Given the description of an element on the screen output the (x, y) to click on. 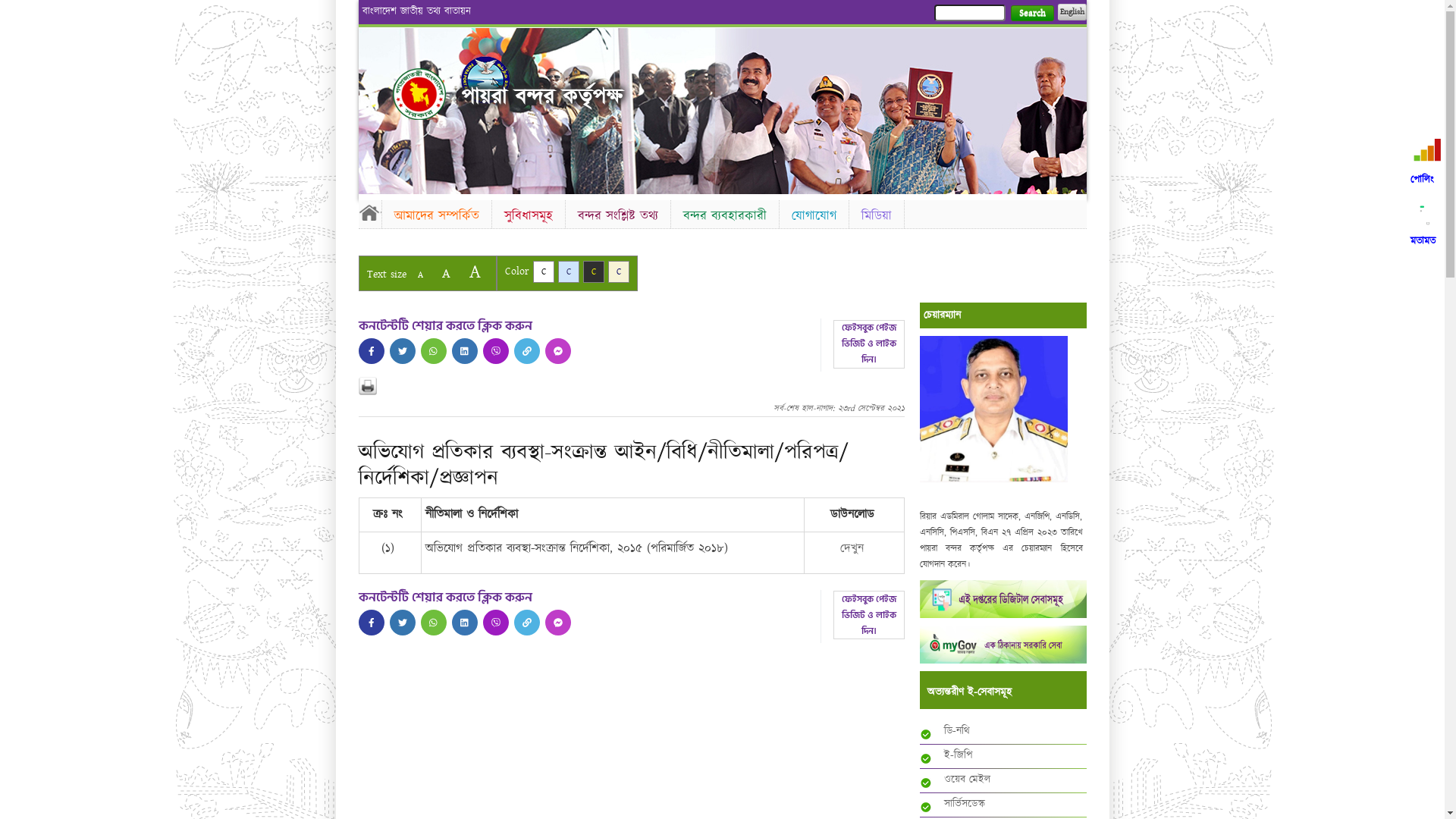
Home Element type: hover (368, 211)
Search Element type: text (1031, 13)
English Element type: text (1071, 11)
C Element type: text (542, 271)
A Element type: text (445, 273)
A Element type: text (419, 274)
C Element type: text (592, 271)
Home Element type: hover (418, 93)
A Element type: text (474, 271)
C Element type: text (618, 271)
C Element type: text (568, 271)
